Given the description of an element on the screen output the (x, y) to click on. 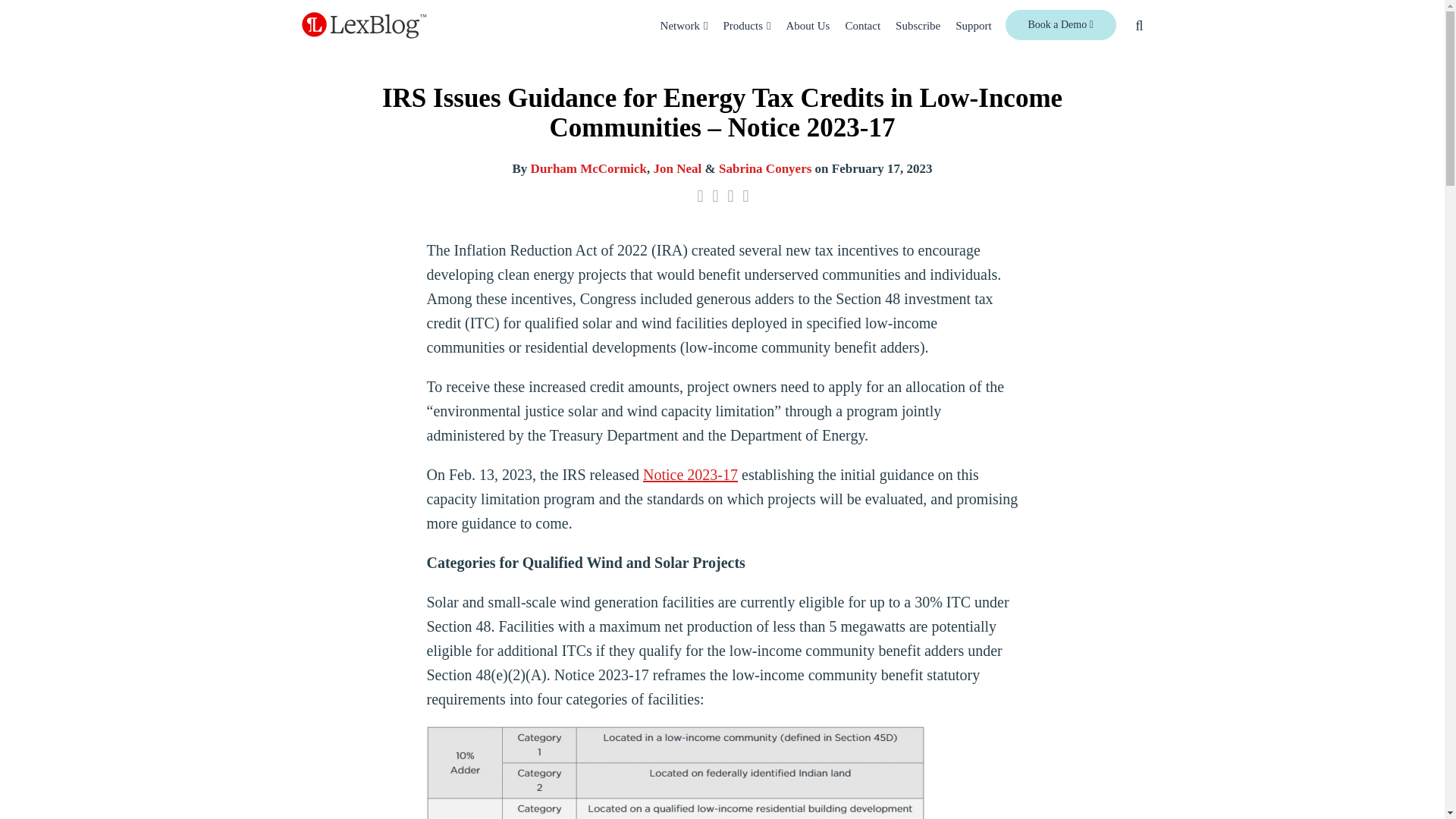
Book a Demo (1061, 24)
Contact (862, 25)
About Us (807, 25)
Jon Neal (677, 168)
Notice 2023-17 (690, 474)
Network (680, 25)
Sabrina Conyers (764, 168)
Subscribe (917, 25)
Durham McCormick (588, 168)
Support (973, 25)
